Given the description of an element on the screen output the (x, y) to click on. 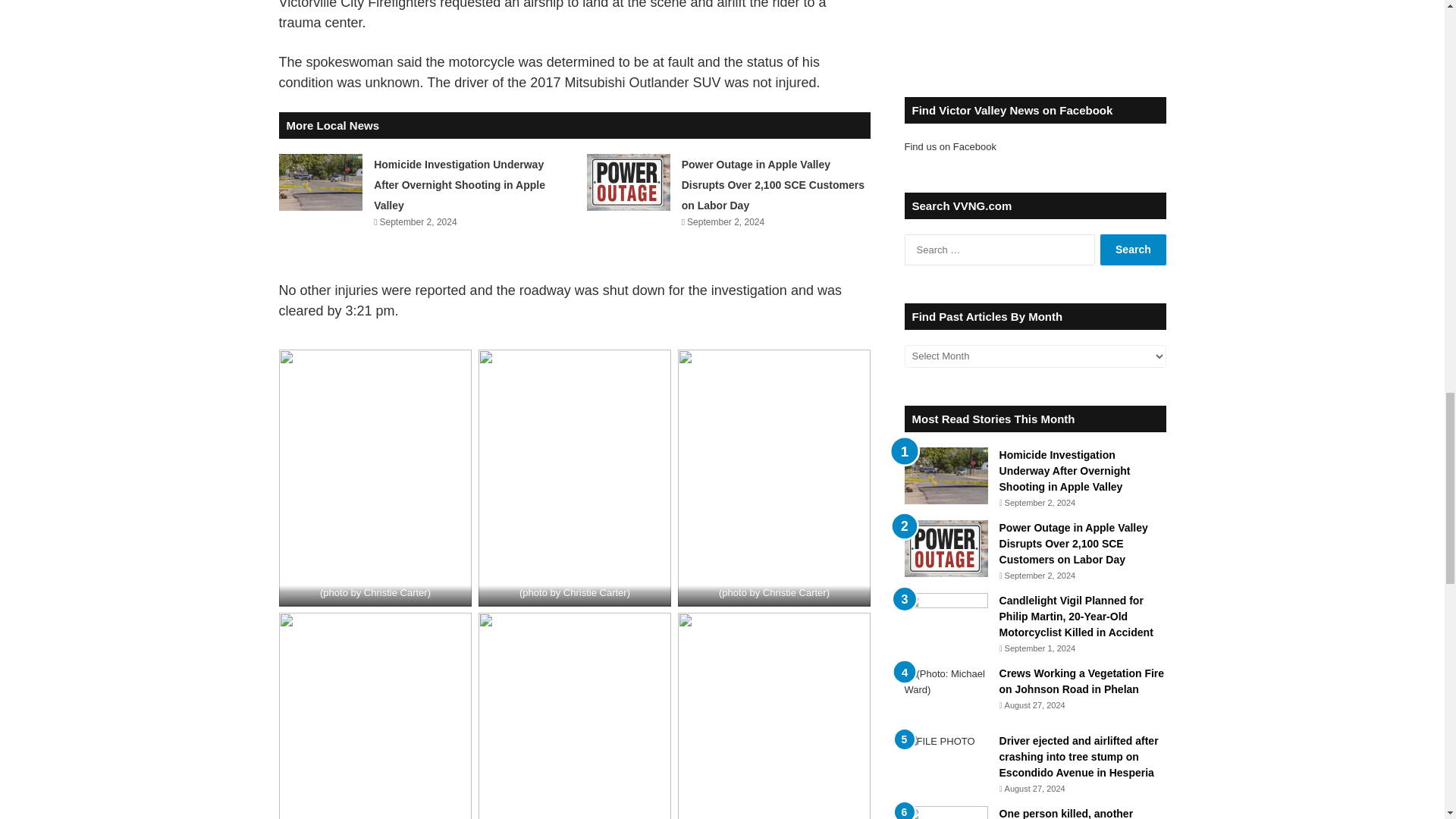
Search (1133, 249)
Search (1133, 249)
